Given the description of an element on the screen output the (x, y) to click on. 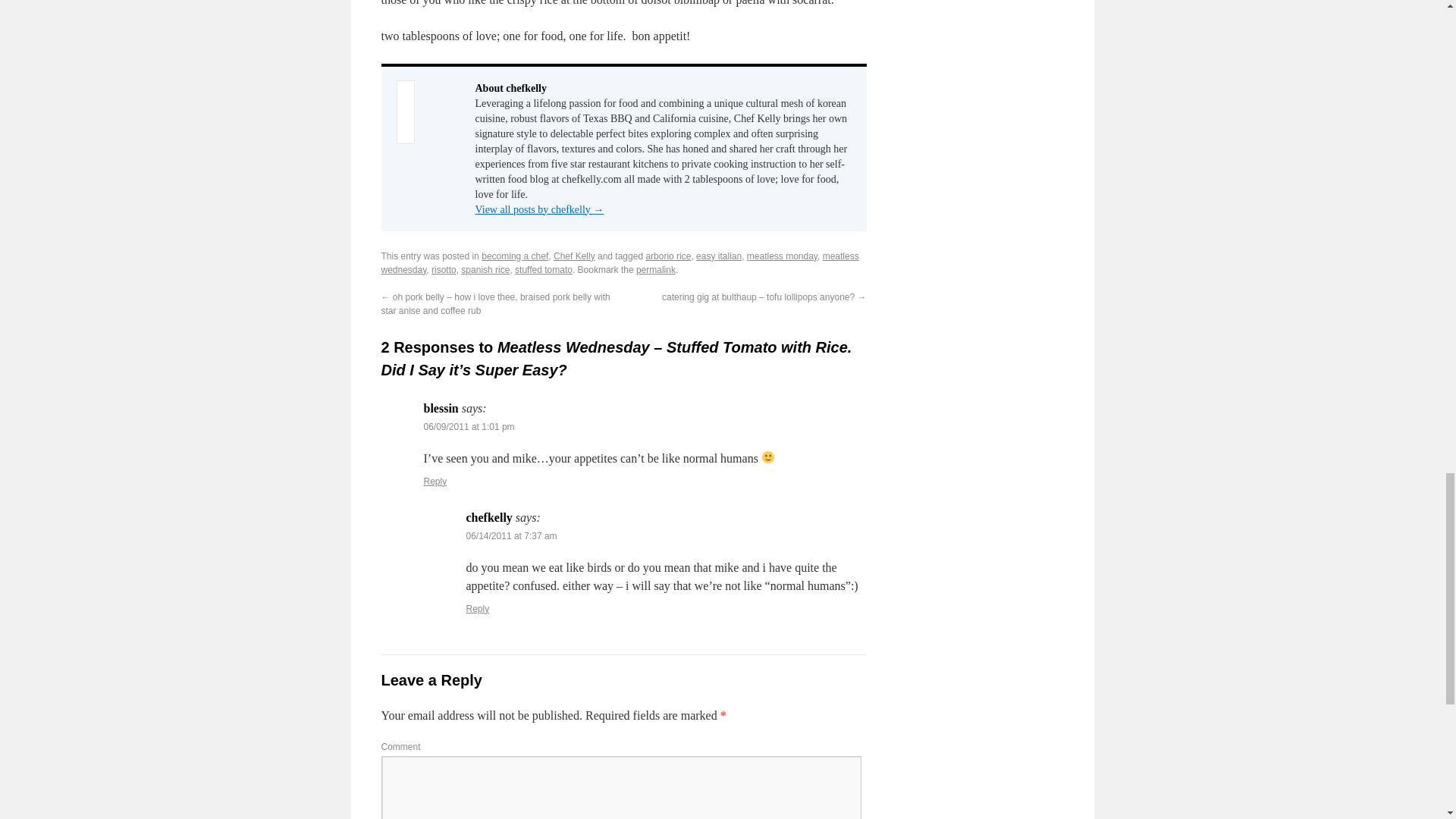
becoming a chef (514, 255)
spanish rice (485, 269)
Reply (434, 480)
meatless monday (781, 255)
meatless wednesday (619, 262)
permalink (655, 269)
risotto (443, 269)
arborio rice (667, 255)
Reply (477, 608)
stuffed tomato (543, 269)
